Given the description of an element on the screen output the (x, y) to click on. 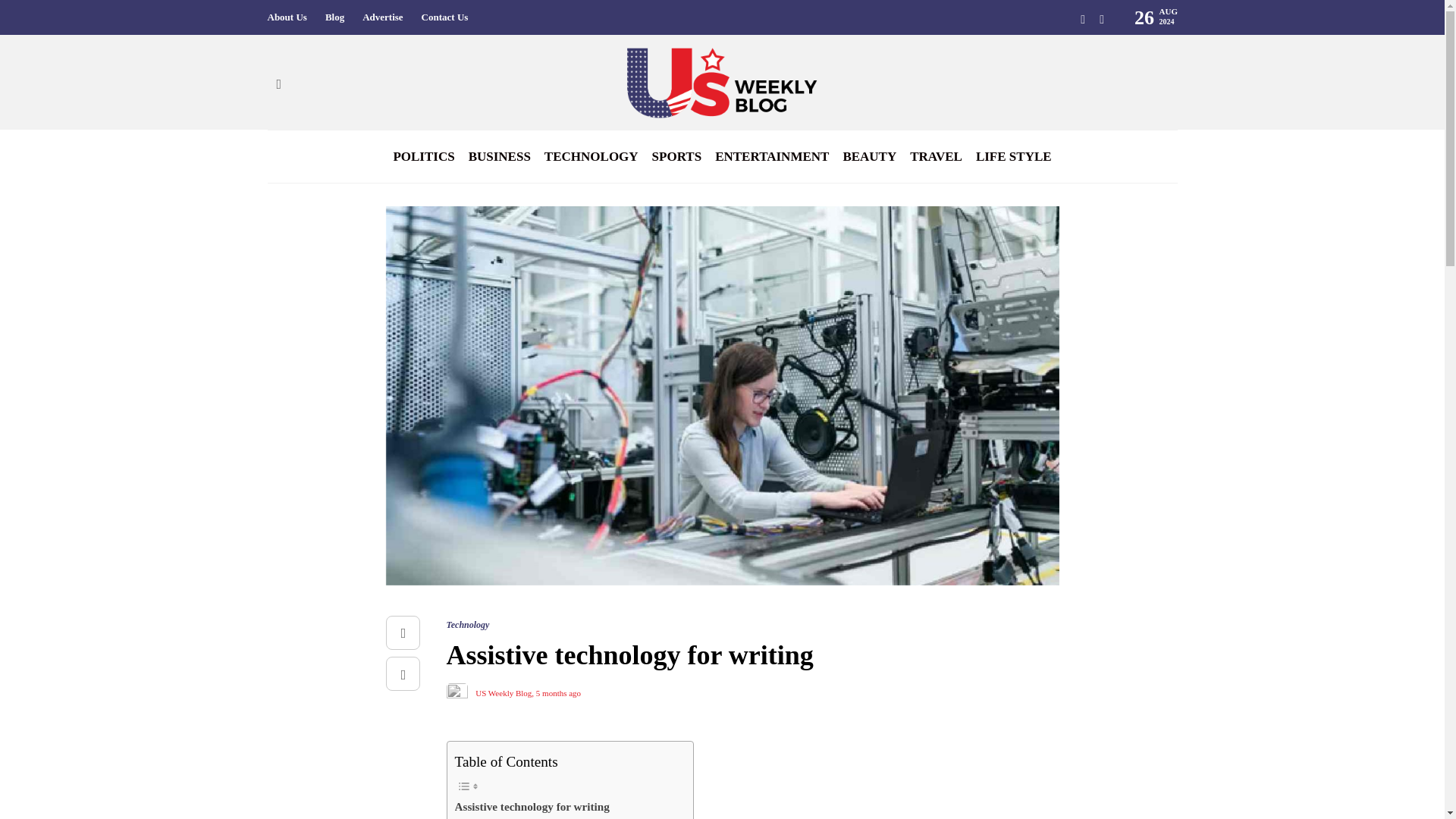
Advertise (382, 17)
About Us (285, 17)
Contact Us (445, 17)
Type of assistive technology tools for writing (563, 817)
Assistive technology for writing (532, 806)
